Given the description of an element on the screen output the (x, y) to click on. 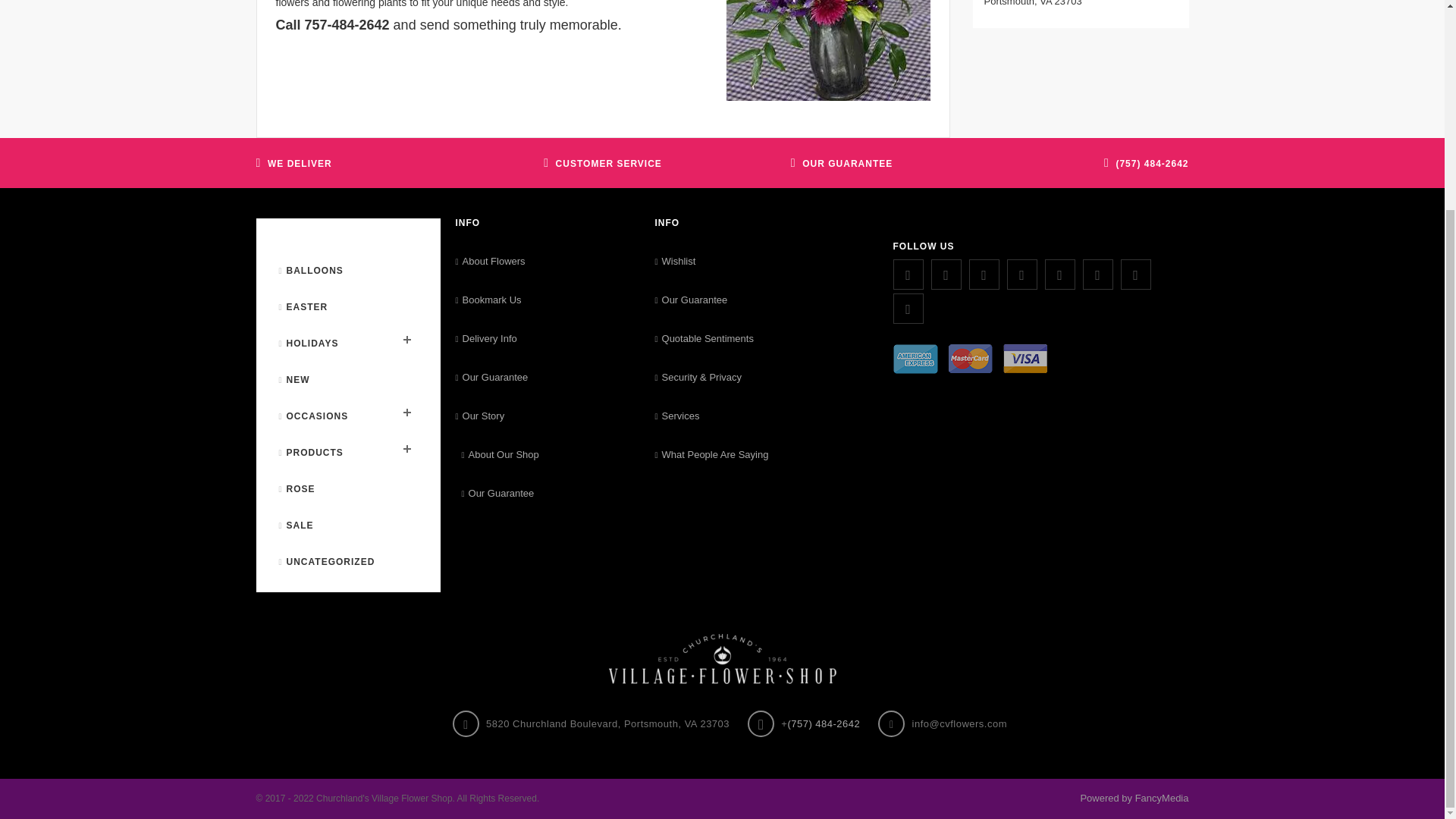
NEW (294, 379)
OCCASIONS (314, 416)
EASTER (304, 307)
PRODUCTS (311, 452)
BALLOONS (311, 270)
HOLIDAYS (309, 343)
Powered by FancyMedia (1134, 798)
